Given the description of an element on the screen output the (x, y) to click on. 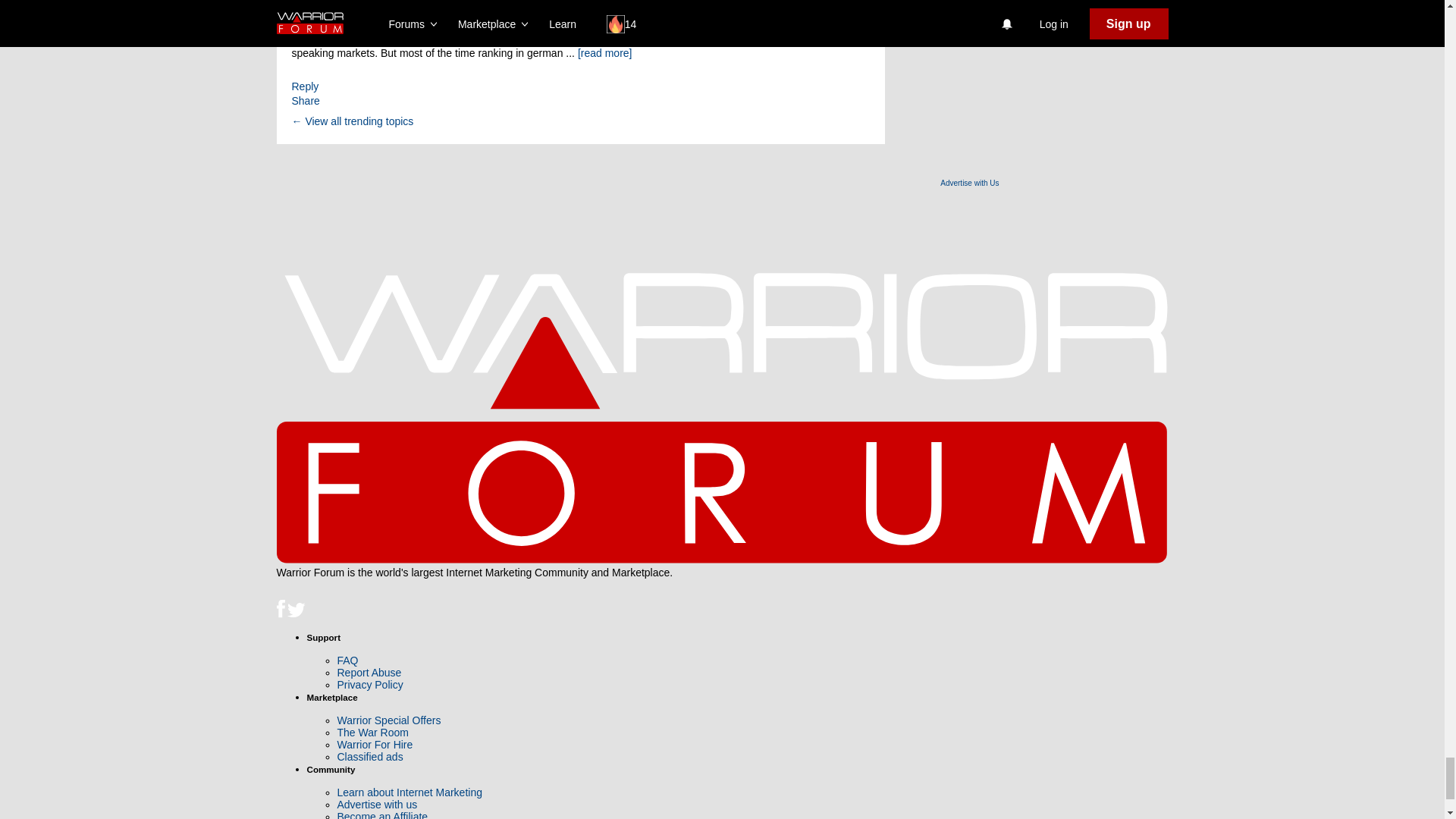
Bird (295, 610)
Facebook (279, 608)
